Given the description of an element on the screen output the (x, y) to click on. 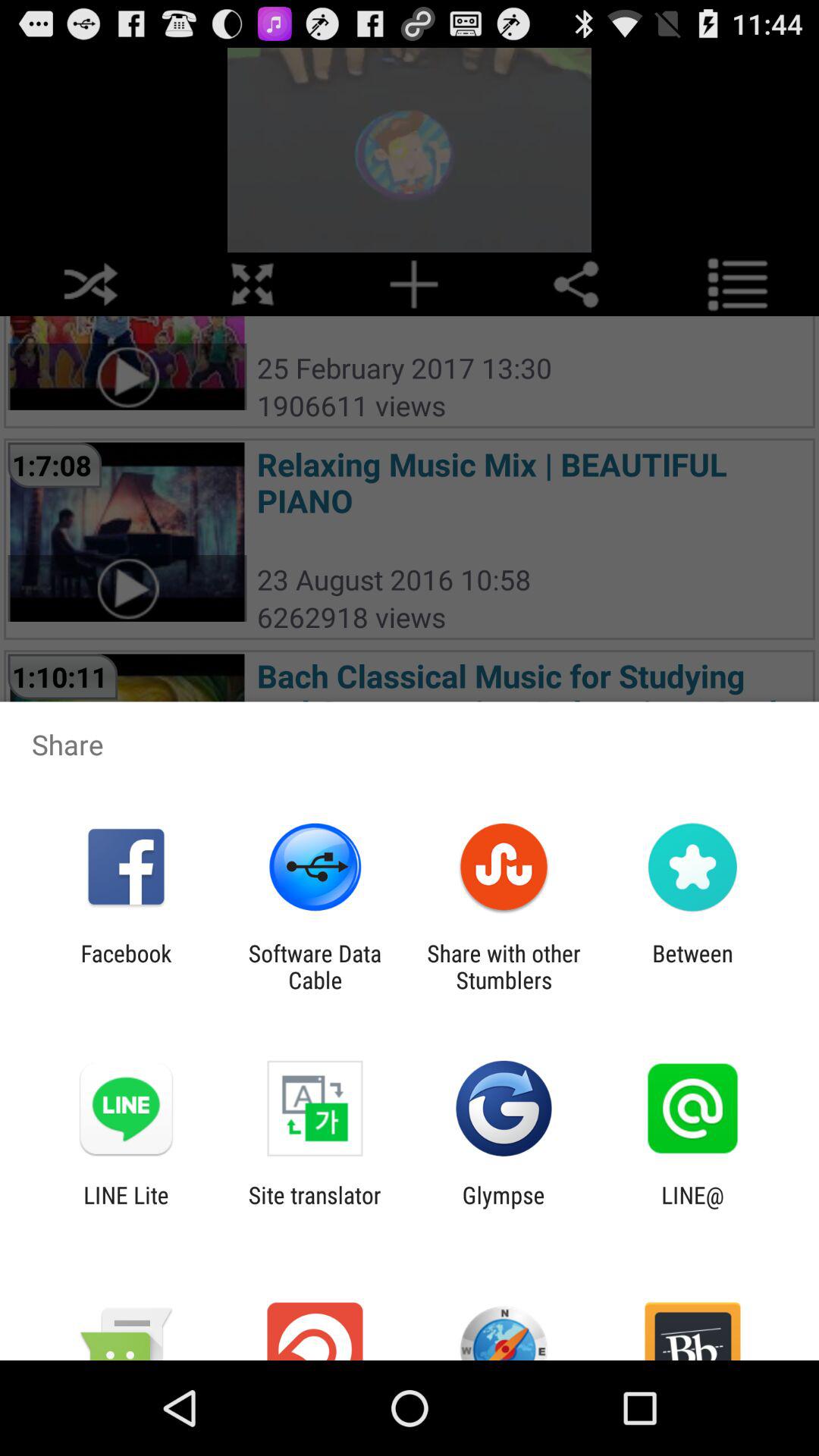
open item to the left of the share with other app (314, 966)
